Given the description of an element on the screen output the (x, y) to click on. 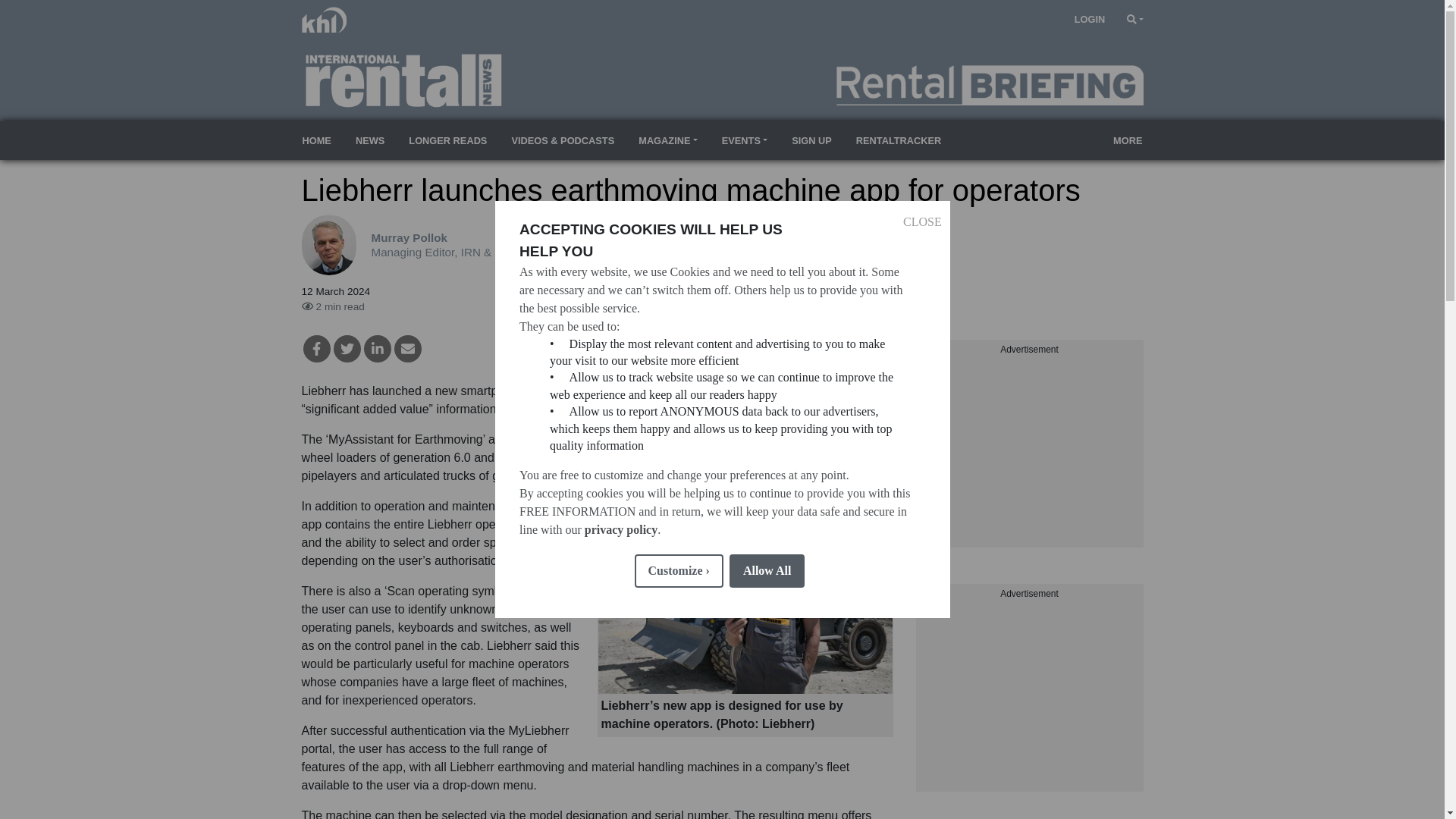
Share this page via email (408, 348)
3rd party ad content (1028, 452)
Share this page on Facebook (316, 348)
Share this page on Linkedin (377, 348)
Share this page on Twitter (347, 348)
3rd party ad content (1028, 696)
